Given the description of an element on the screen output the (x, y) to click on. 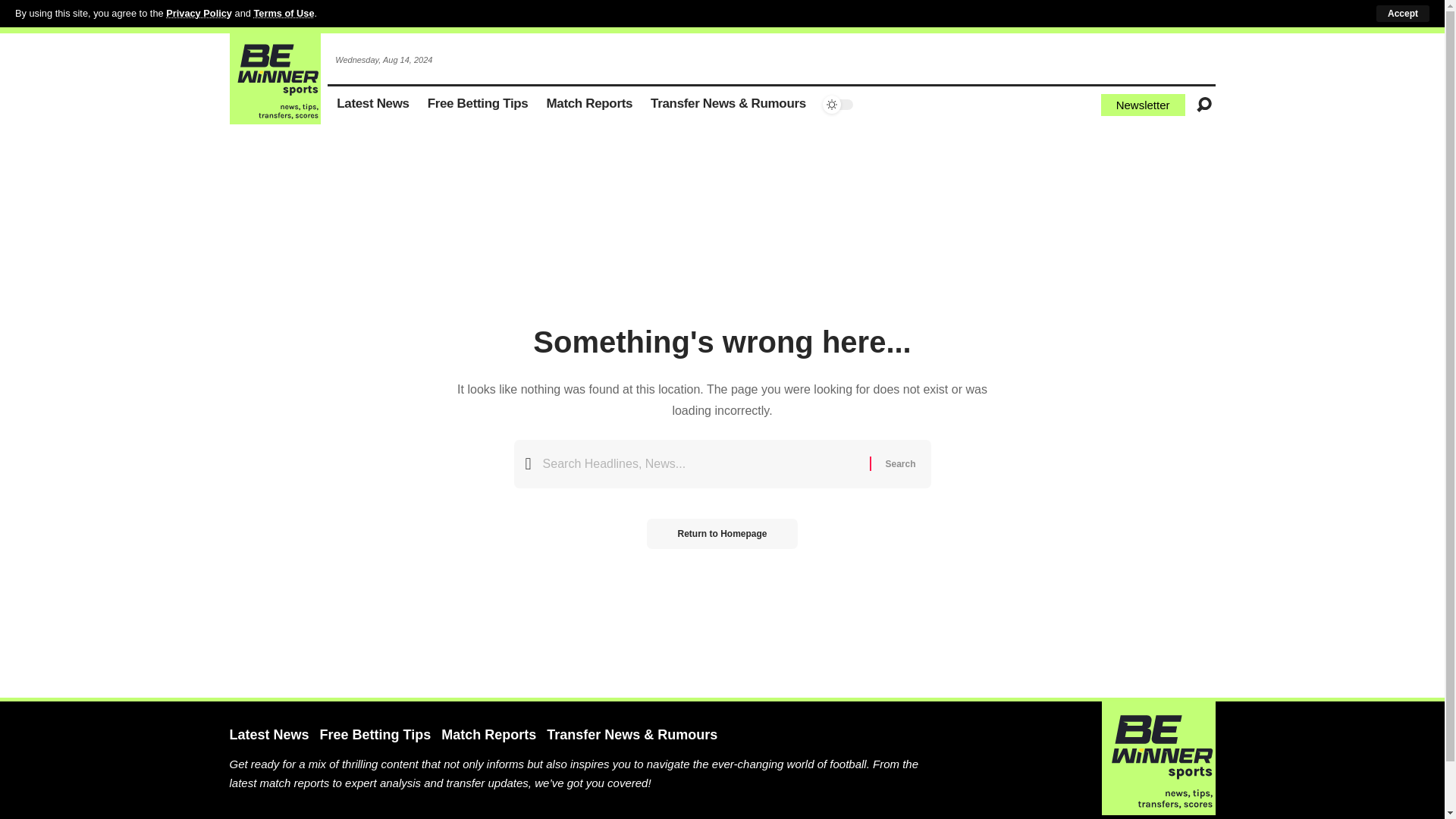
Latest News (372, 104)
Terms of Use (283, 12)
Newsletter (1142, 105)
Match Reports (589, 104)
Privacy Policy (198, 12)
Search (899, 463)
Free Betting Tips (478, 104)
Accept (1402, 13)
